Given the description of an element on the screen output the (x, y) to click on. 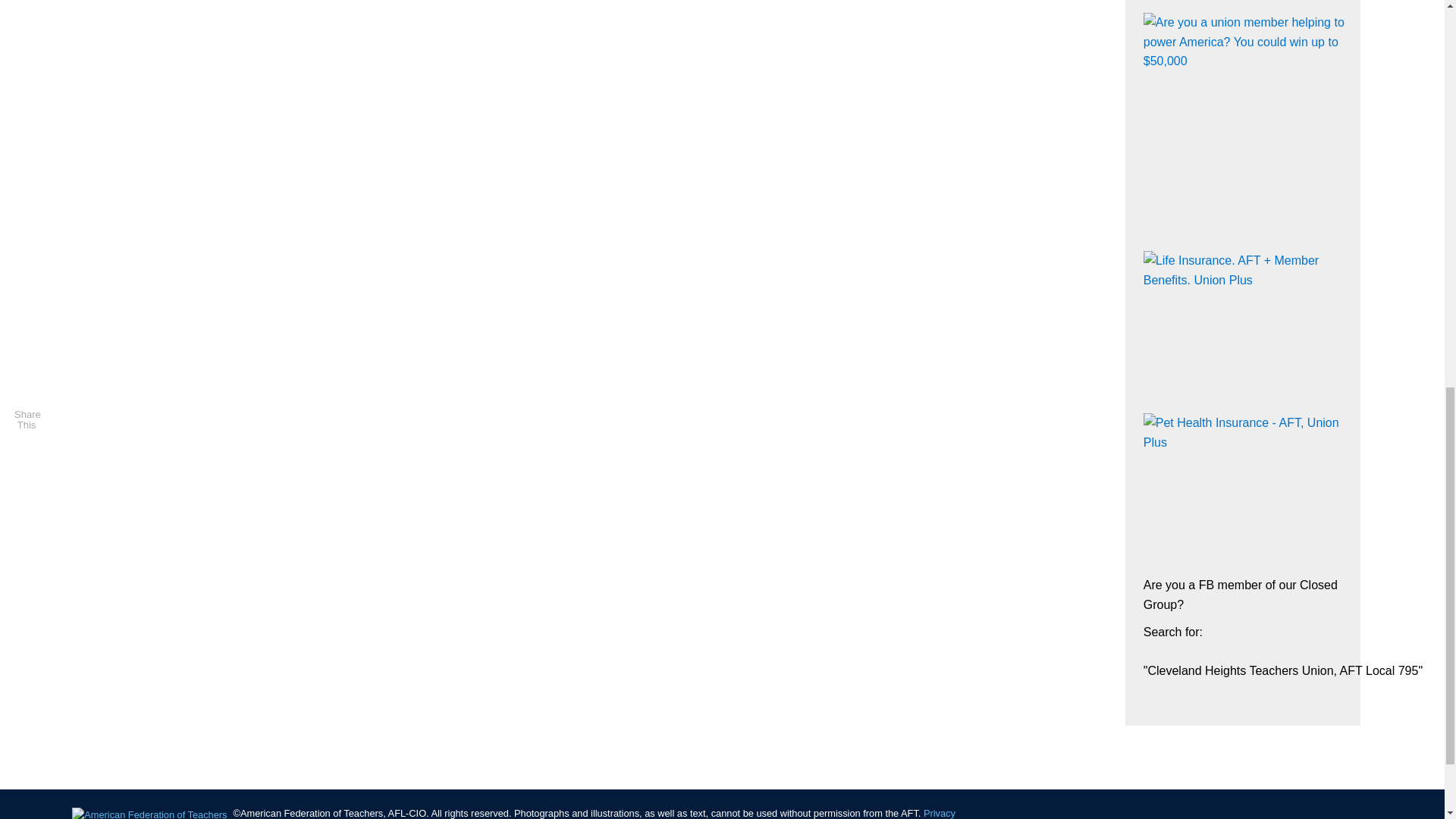
Privacy Policy (593, 813)
